Given the description of an element on the screen output the (x, y) to click on. 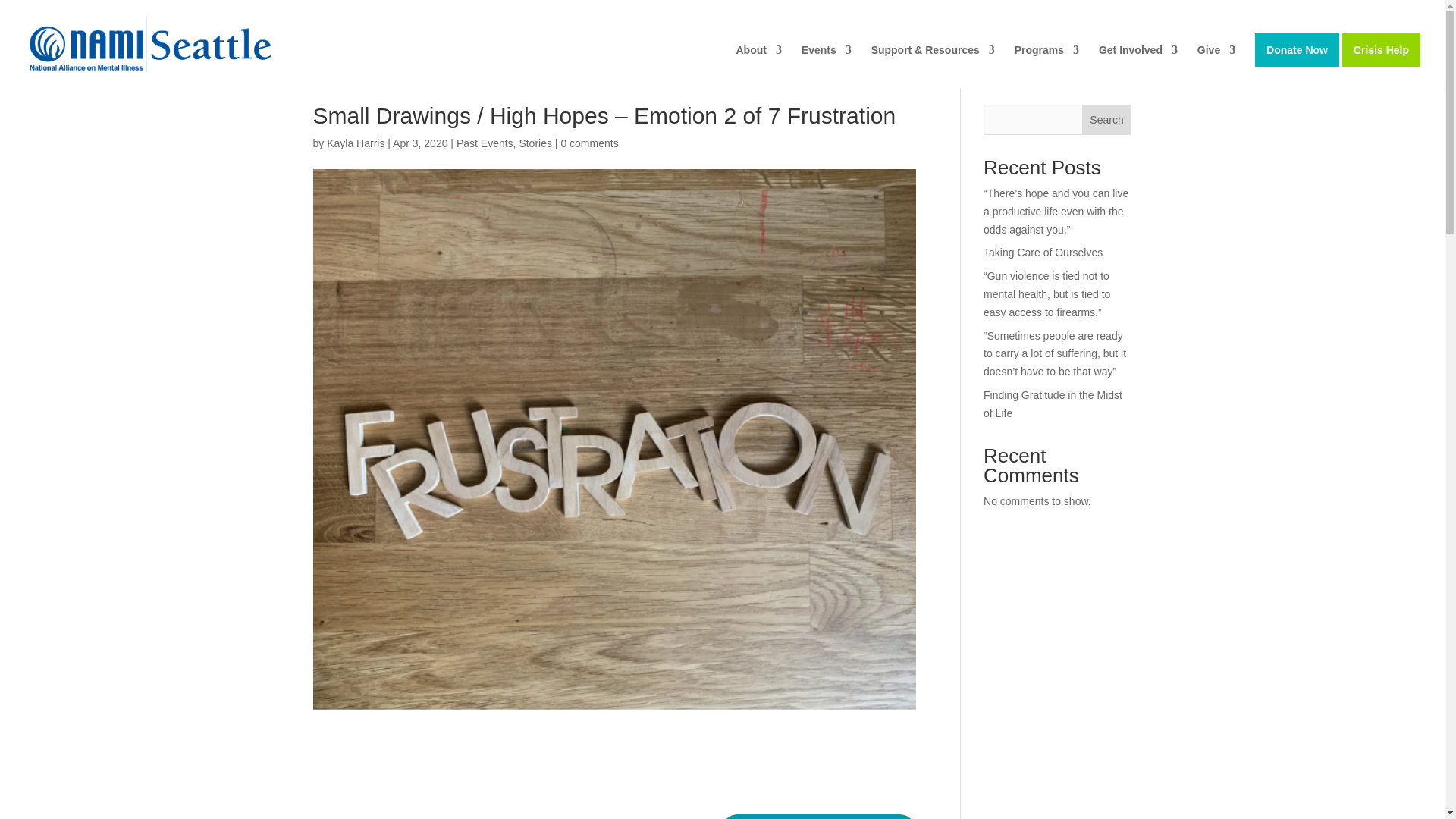
Get Involved (1138, 66)
About (757, 66)
Posts by Kayla Harris (355, 143)
Events (826, 66)
Programs (1046, 66)
